Given the description of an element on the screen output the (x, y) to click on. 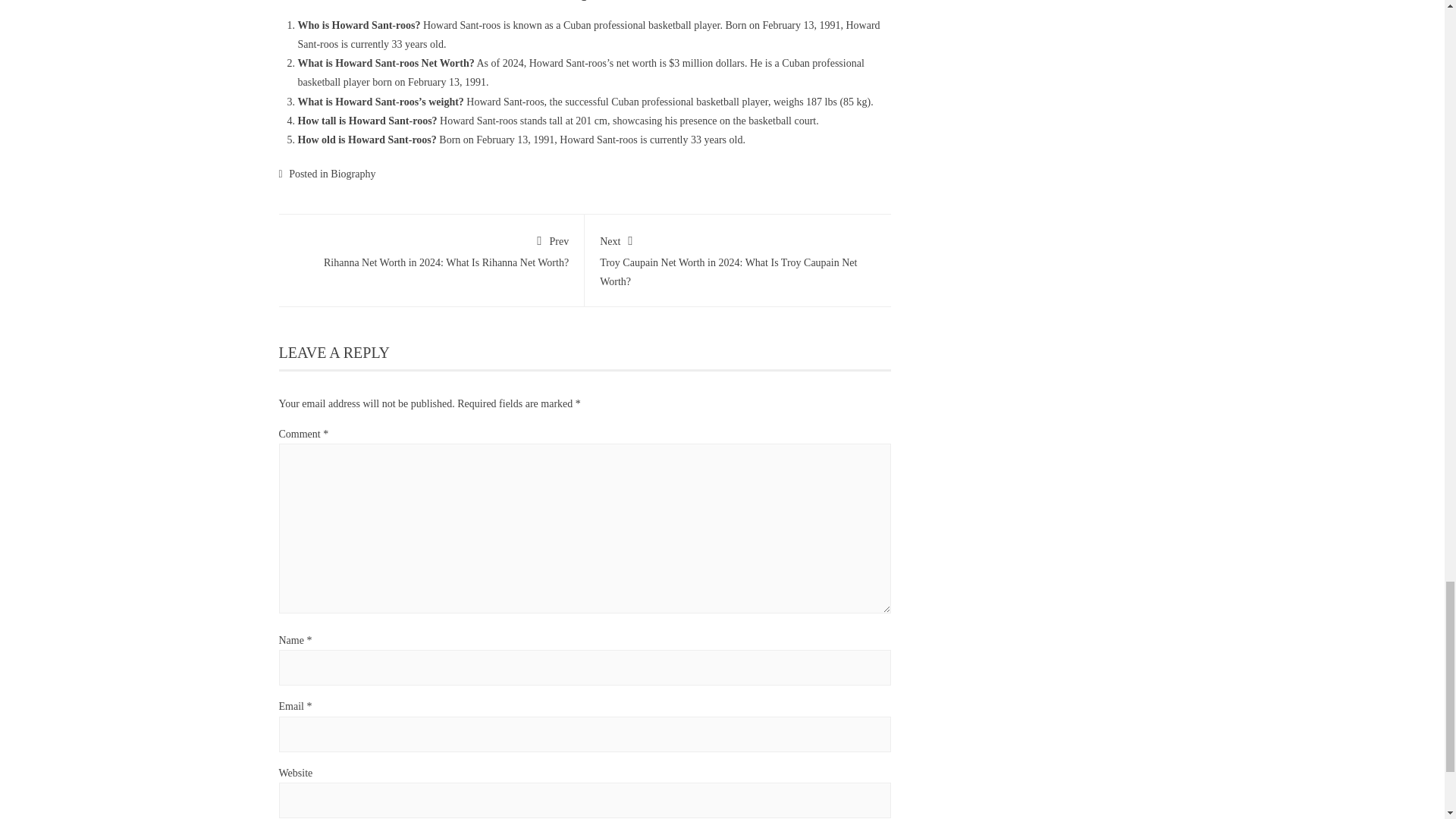
Biography (352, 173)
